Given the description of an element on the screen output the (x, y) to click on. 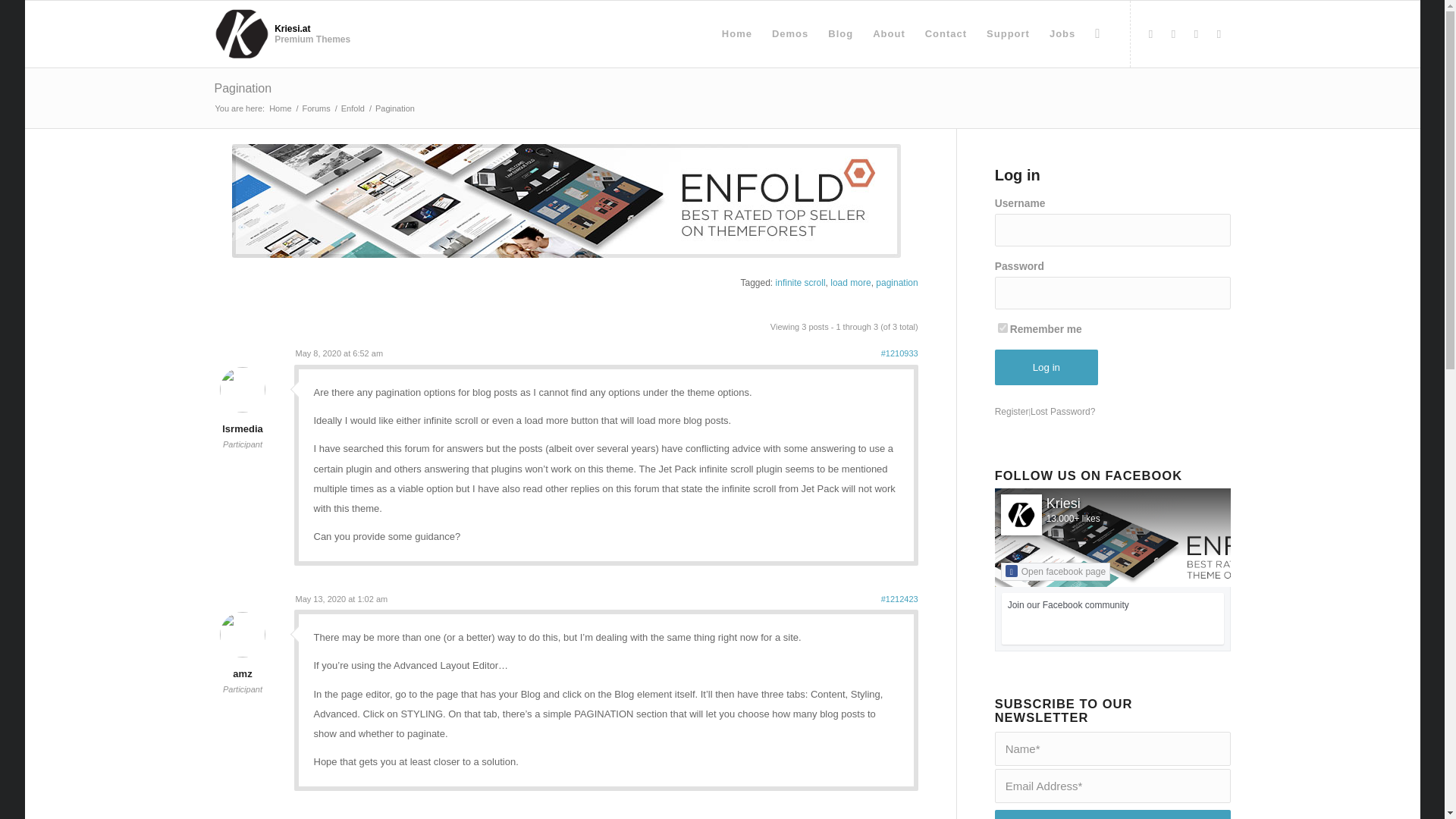
pagination (896, 282)
Participant (242, 443)
Permanent Link: Pagination (242, 88)
Participant (242, 688)
Kriesi (1063, 503)
Kriesi.at (280, 108)
Pagination (242, 88)
View lsrmedia's profile (241, 418)
Contact (945, 33)
Home (280, 108)
true (1002, 327)
Log in (1045, 366)
Open facebook page (1055, 571)
Subscribe (1112, 814)
Register (1011, 411)
